Given the description of an element on the screen output the (x, y) to click on. 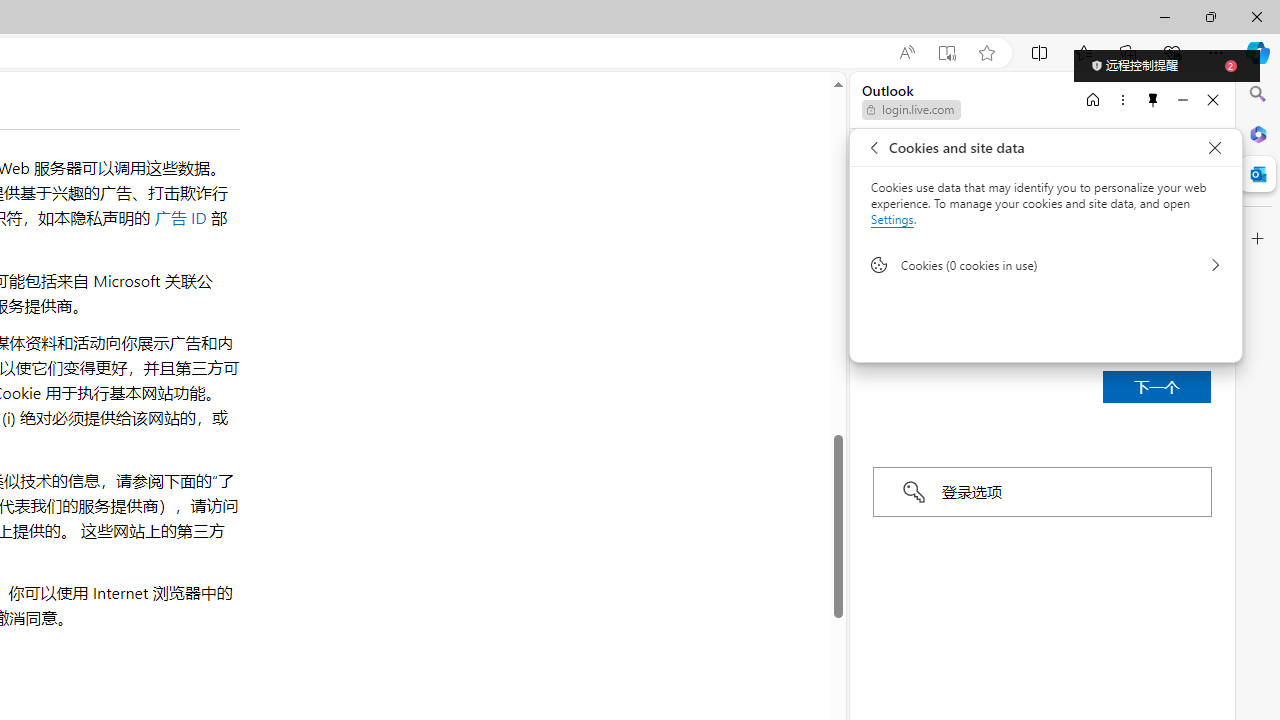
Cookies (0 cookies in use) (1046, 264)
Cookies and site data (1214, 147)
